Given the description of an element on the screen output the (x, y) to click on. 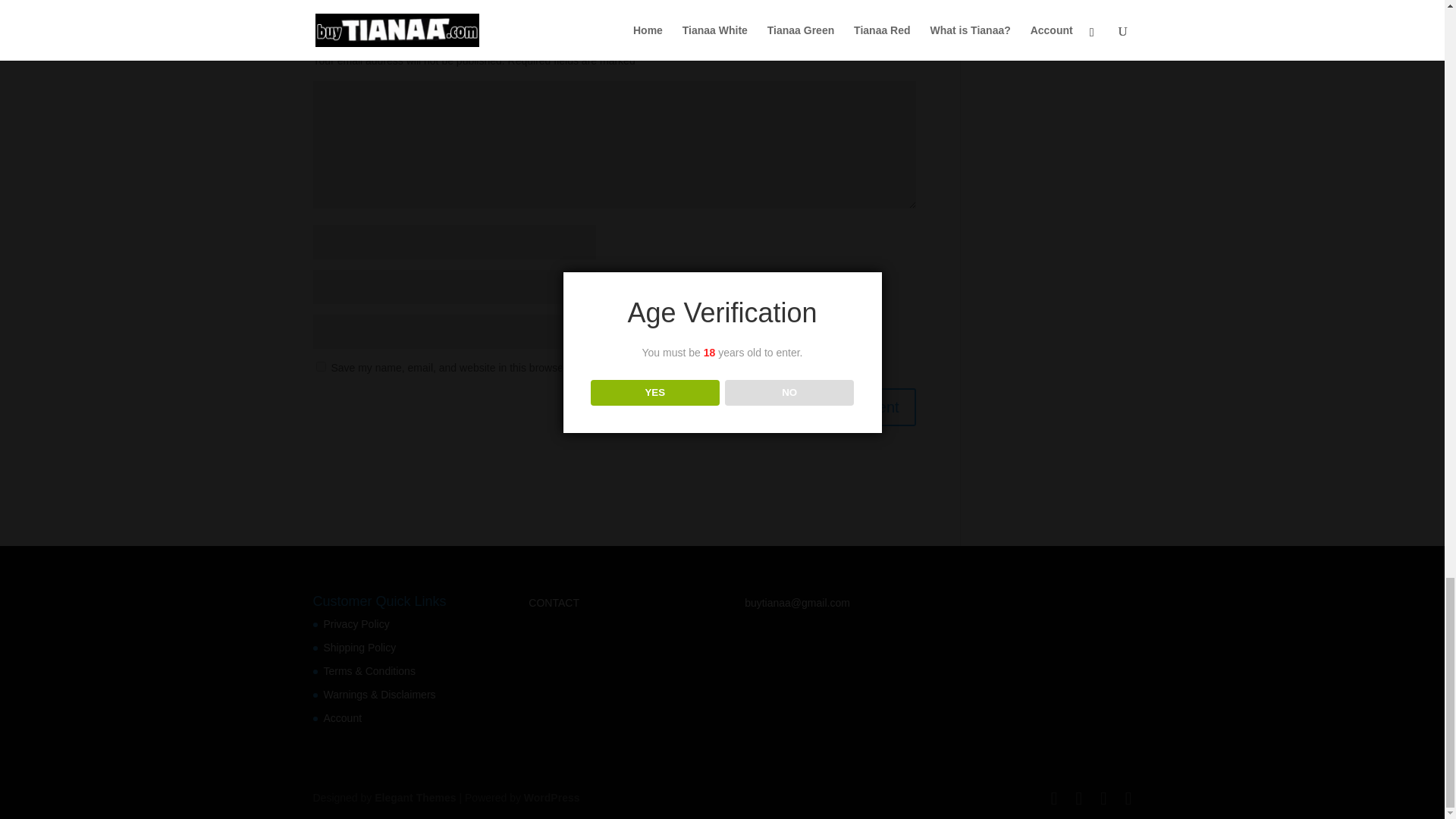
Account (342, 717)
Submit Comment (840, 406)
Privacy Policy (355, 623)
Shipping Policy (359, 647)
Elegant Themes (414, 797)
WordPress (551, 797)
yes (319, 366)
Submit Comment (840, 406)
Premium WordPress Themes (414, 797)
